Given the description of an element on the screen output the (x, y) to click on. 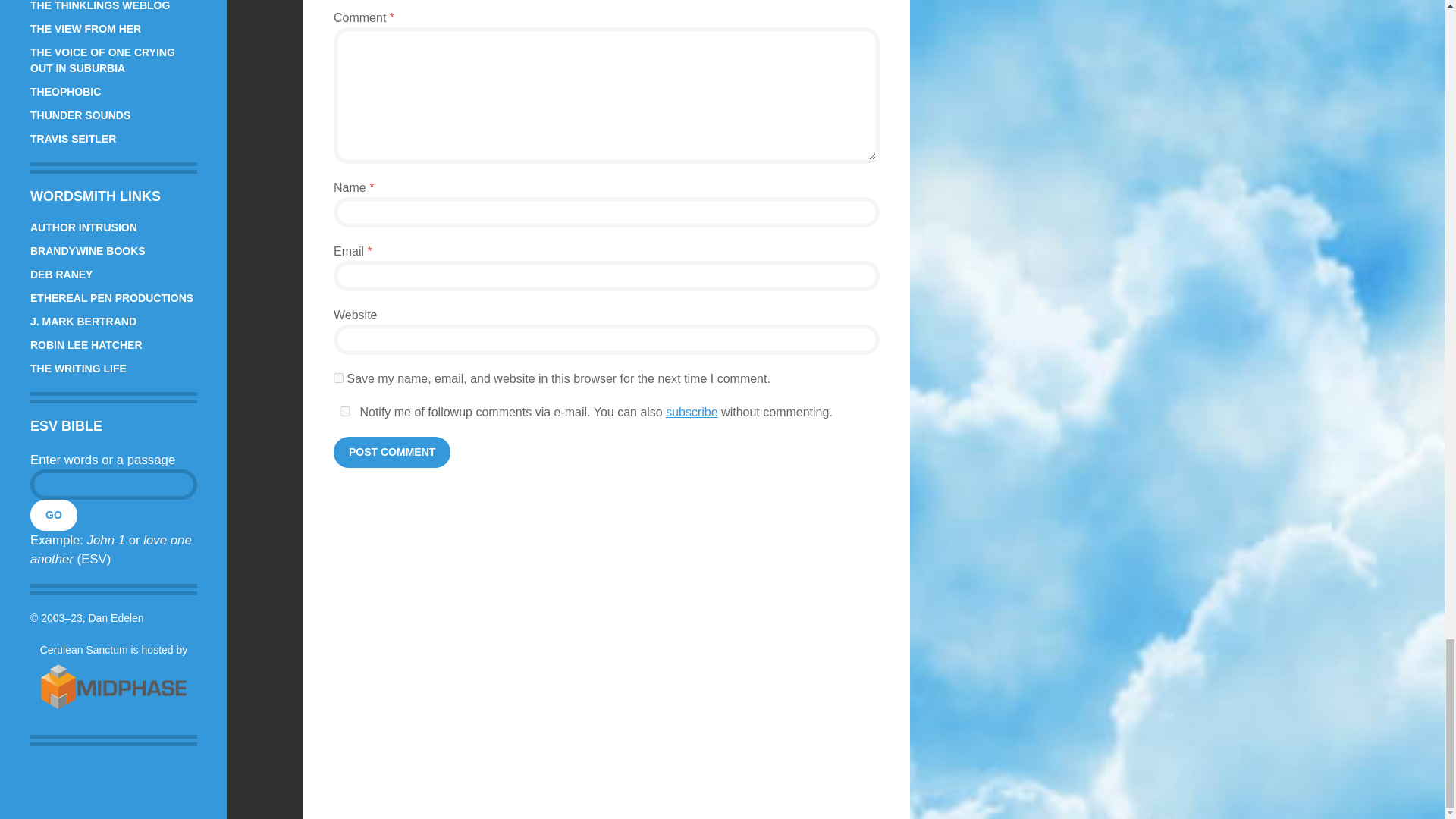
yes (344, 411)
Go (53, 514)
yes (338, 378)
Post Comment (391, 451)
